Given the description of an element on the screen output the (x, y) to click on. 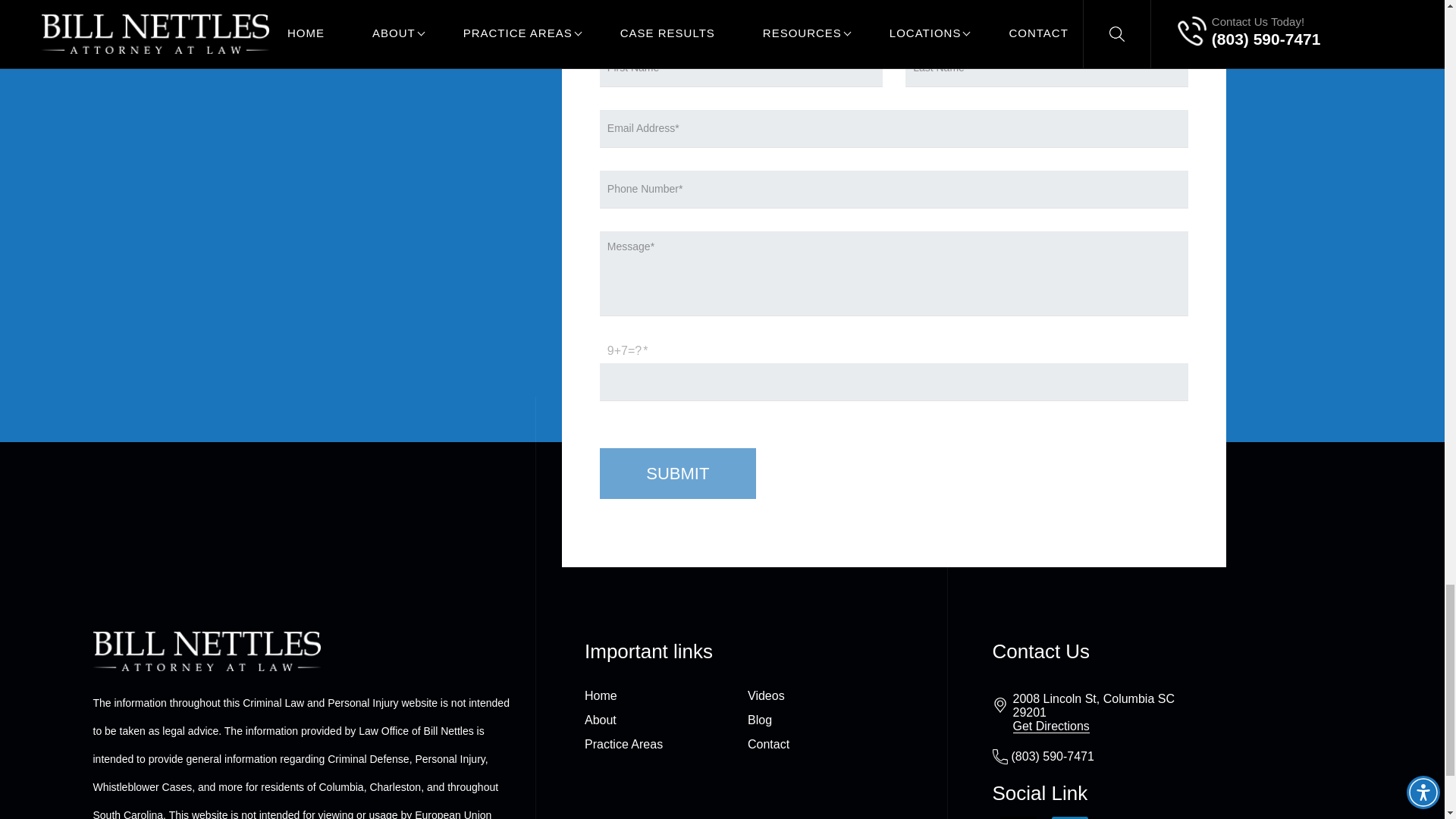
Submit (677, 472)
